Given the description of an element on the screen output the (x, y) to click on. 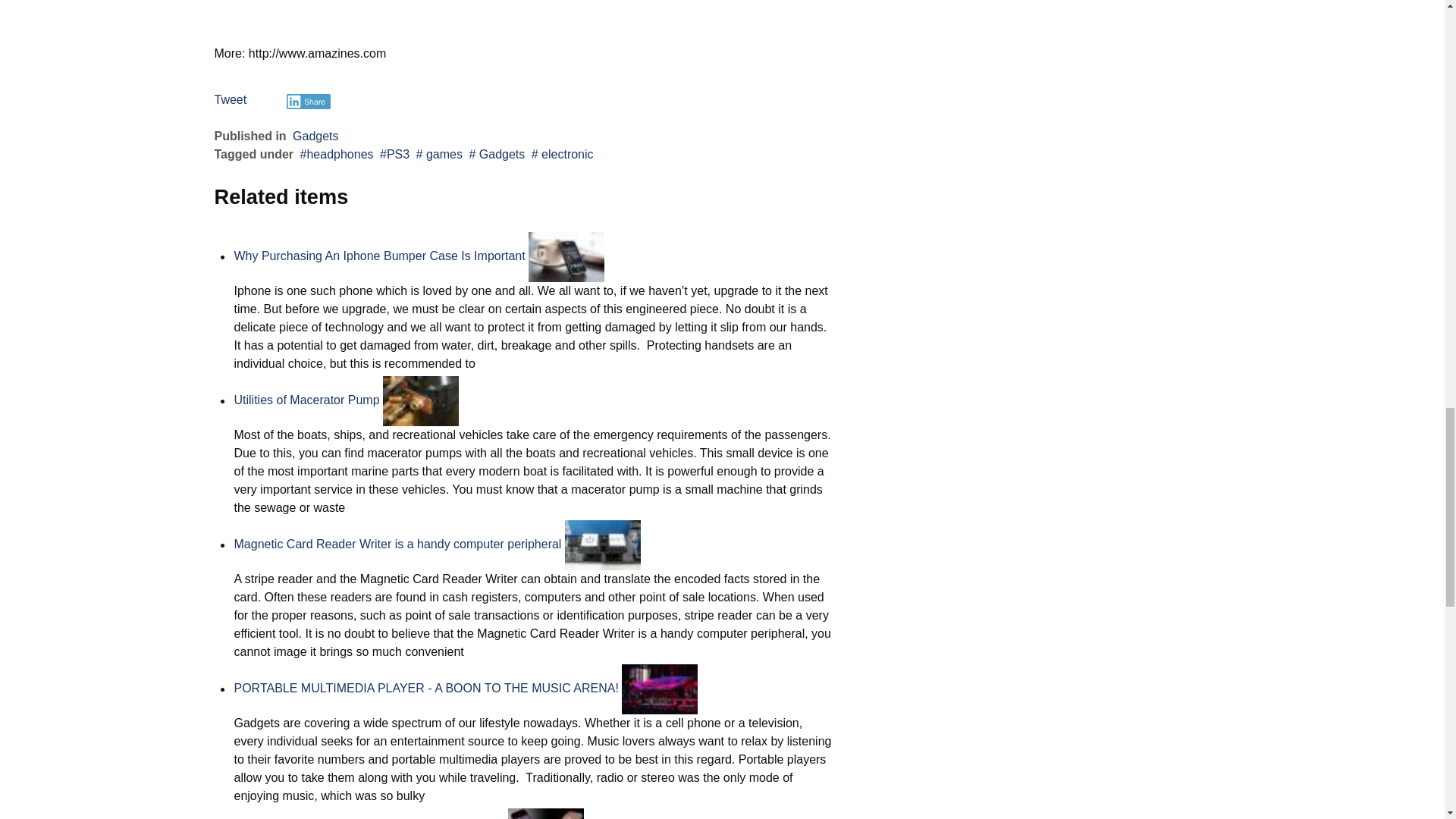
Gadgets (314, 135)
headphones (336, 154)
Why Purchasing An Iphone Bumper Case Is Important (378, 256)
Share (308, 101)
Utilities of Macerator Pump (305, 400)
Gadgets (496, 154)
PS3 (394, 154)
PORTABLE MULTIMEDIA PLAYER - A BOON TO THE MUSIC ARENA! (424, 688)
Tweet (230, 99)
Magnetic Card Reader Writer is a handy computer peripheral (396, 544)
games (439, 154)
electronic (562, 154)
